Given the description of an element on the screen output the (x, y) to click on. 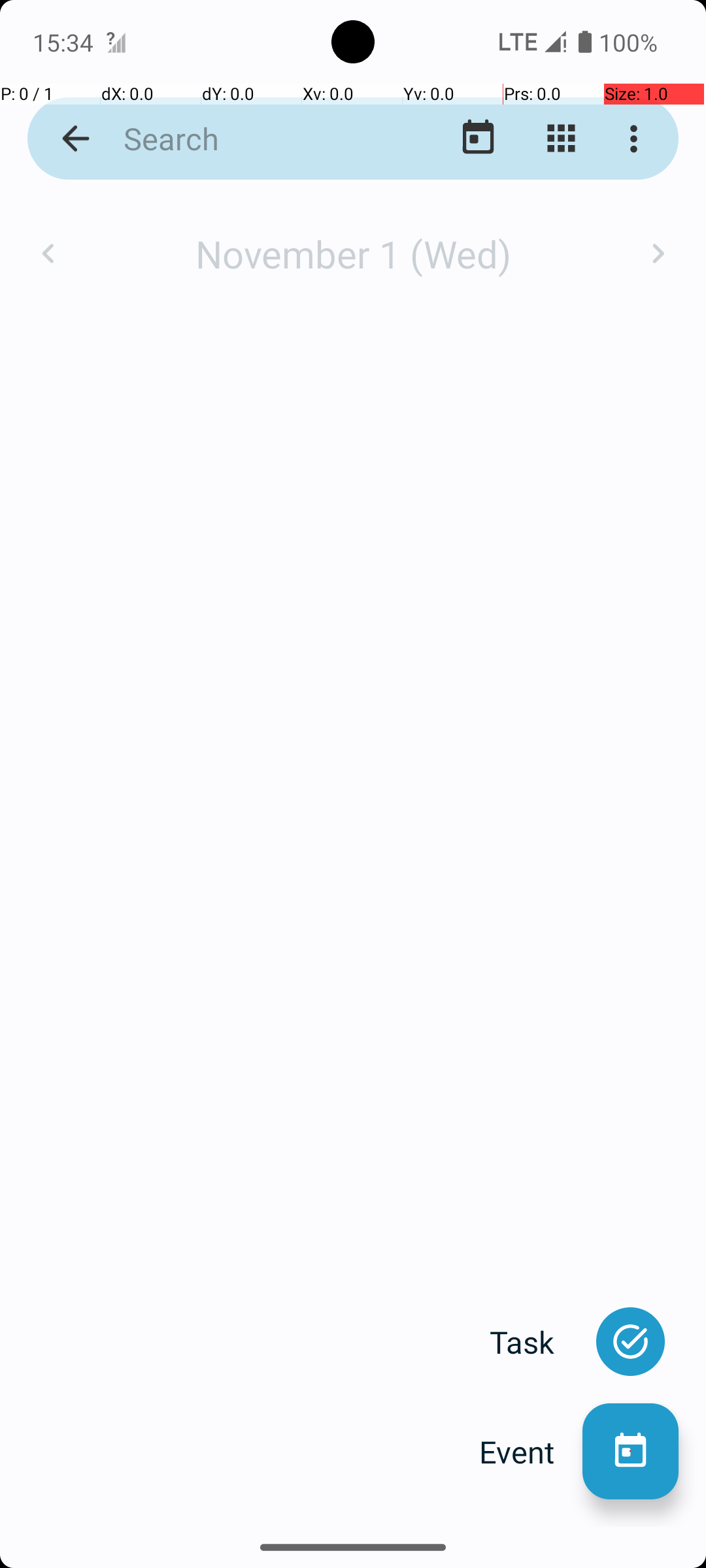
November 1 (Wed) Element type: android.widget.TextView (352, 253)
